Given the description of an element on the screen output the (x, y) to click on. 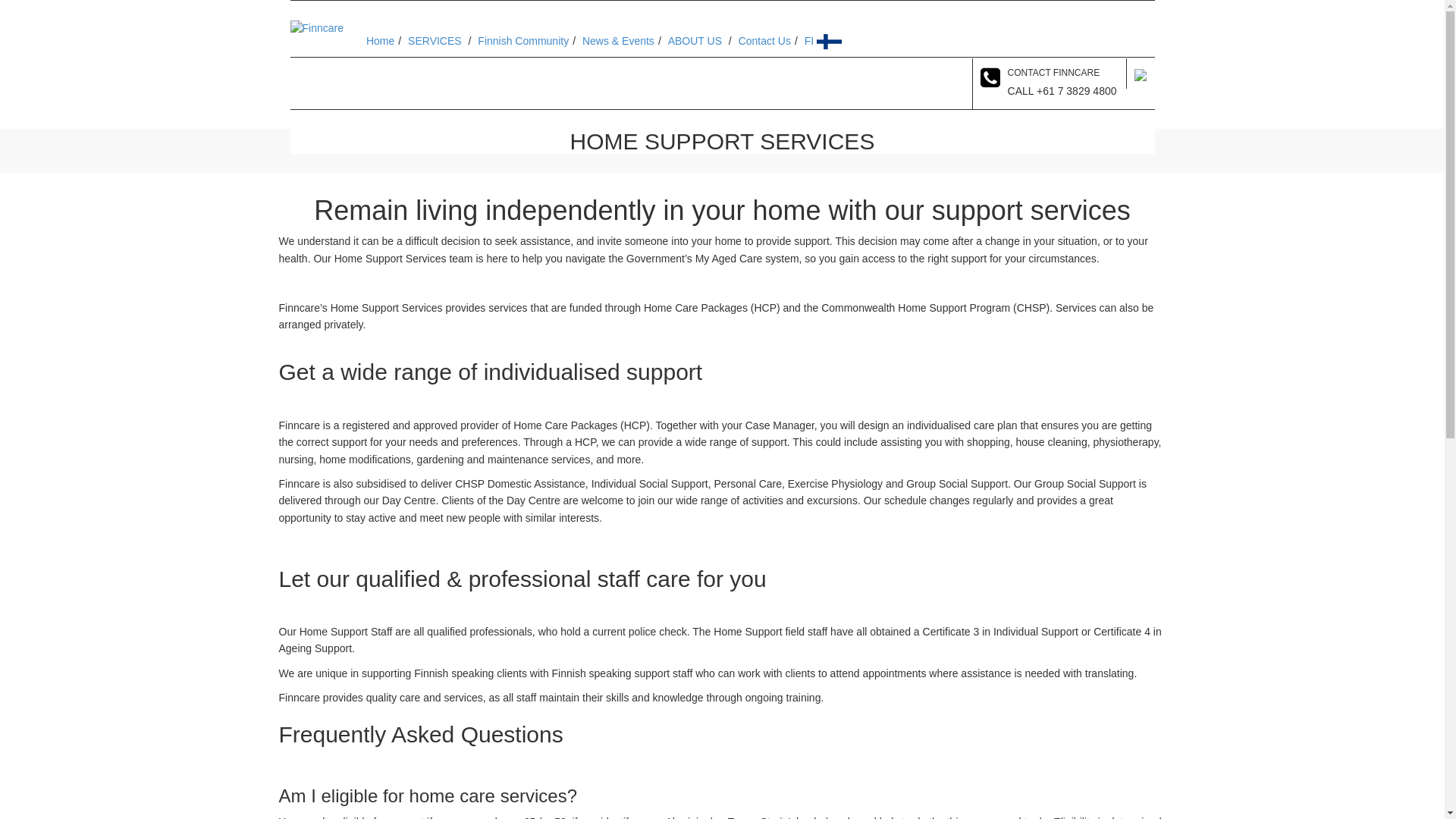
News & Events Element type: text (618, 40)
ABOUT US Element type: text (694, 40)
Home Element type: text (380, 40)
Contact Us Element type: text (764, 40)
Finncare Element type: hover (315, 27)
Finnish Community Element type: text (522, 40)
Finncare Element type: hover (315, 27)
SERVICES Element type: text (434, 40)
FI  Element type: text (810, 40)
